Given the description of an element on the screen output the (x, y) to click on. 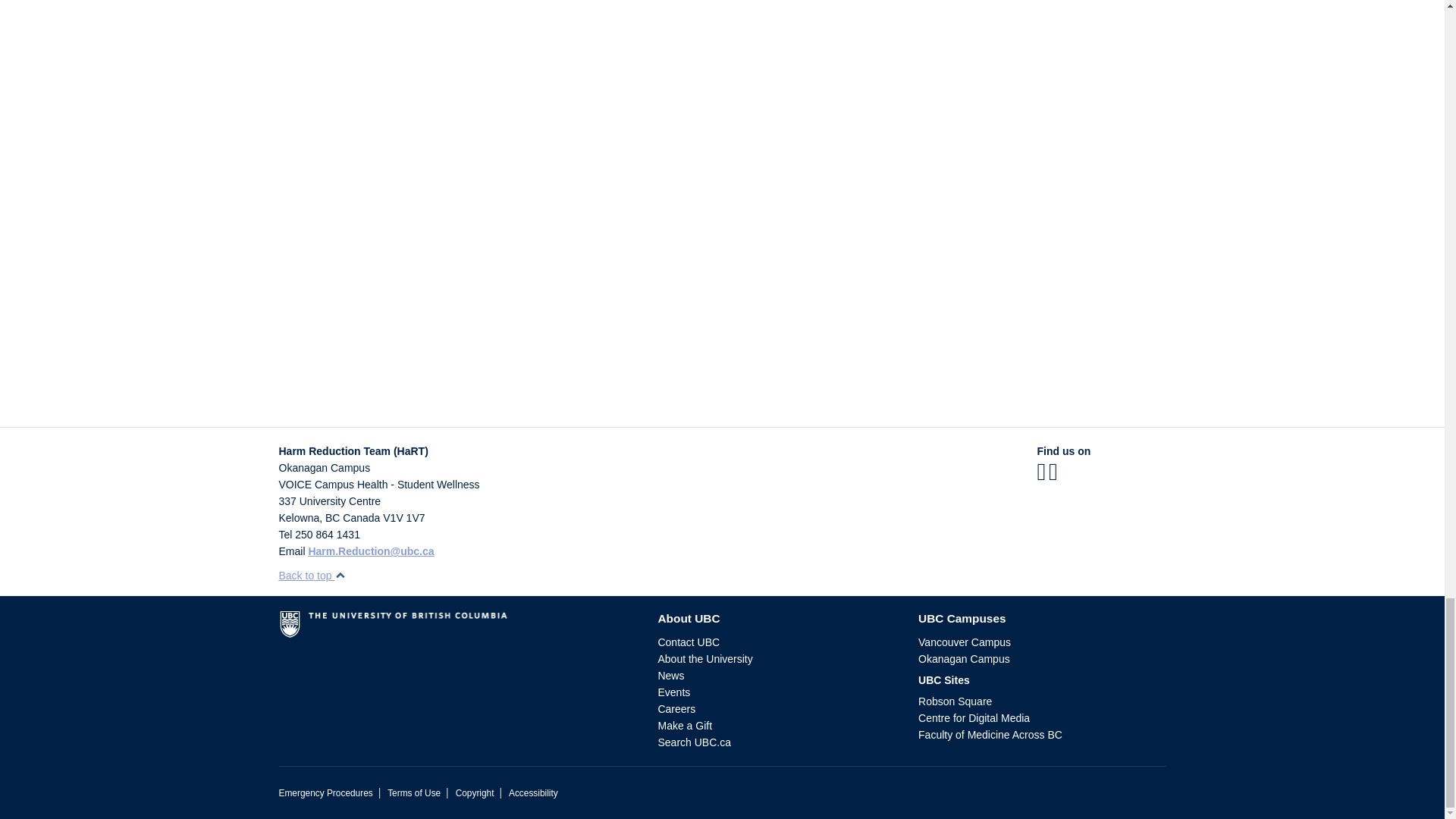
Terms of Use (414, 792)
Back to top (312, 575)
Emergency Procedures (325, 792)
UBC Copyright (475, 792)
Accessibility (532, 792)
